Given the description of an element on the screen output the (x, y) to click on. 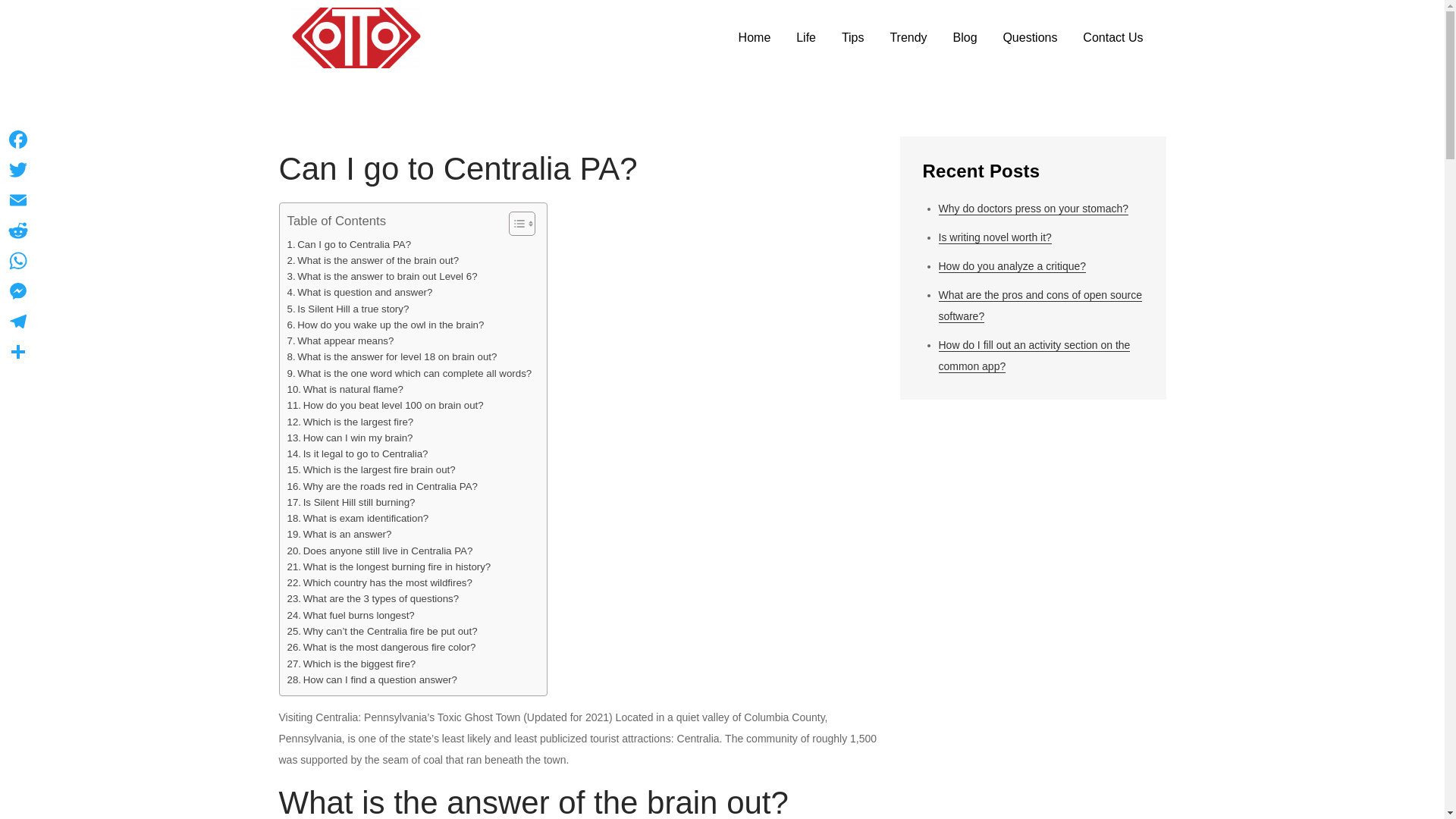
How do you wake up the owl in the brain? (384, 324)
What is the answer for level 18 on brain out? (391, 356)
How can I win my brain? (349, 437)
Which country has the most wildfires? (378, 582)
What is the answer to brain out Level 6? (381, 276)
What is the answer of the brain out? (372, 260)
What is question and answer? (359, 292)
What is question and answer? (359, 292)
Is it legal to go to Centralia? (357, 453)
Which is the largest fire? (349, 421)
What is natural flame? (344, 389)
What fuel burns longest? (349, 615)
Is Silent Hill still burning? (350, 502)
What appear means? (339, 340)
Which is the largest fire? (349, 421)
